Given the description of an element on the screen output the (x, y) to click on. 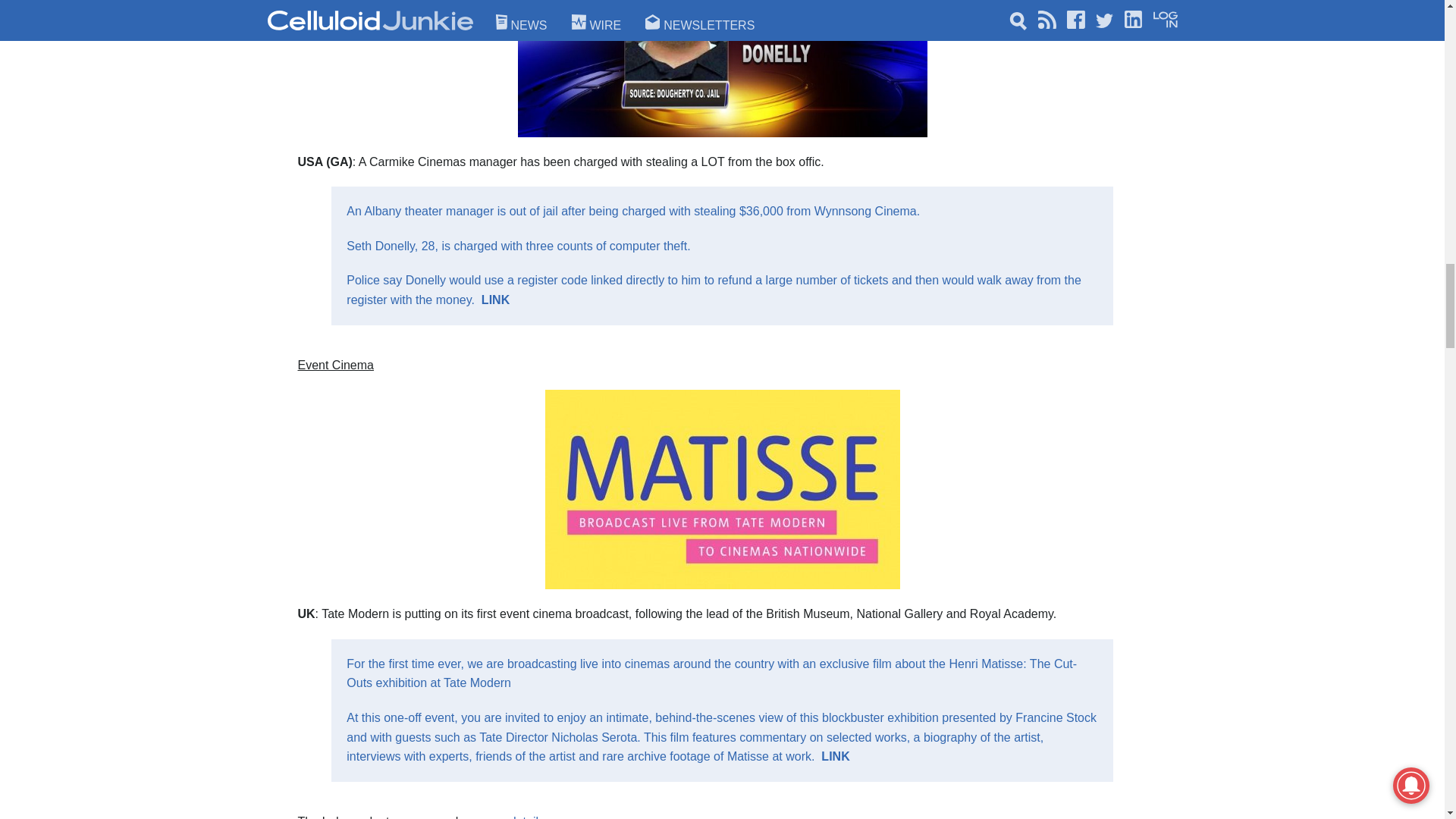
Matisse live exhibition article (511, 816)
Wynsong Carmike Cinema manager accused of theft (495, 299)
Matisse live from Tate Modern  (834, 756)
